Given the description of an element on the screen output the (x, y) to click on. 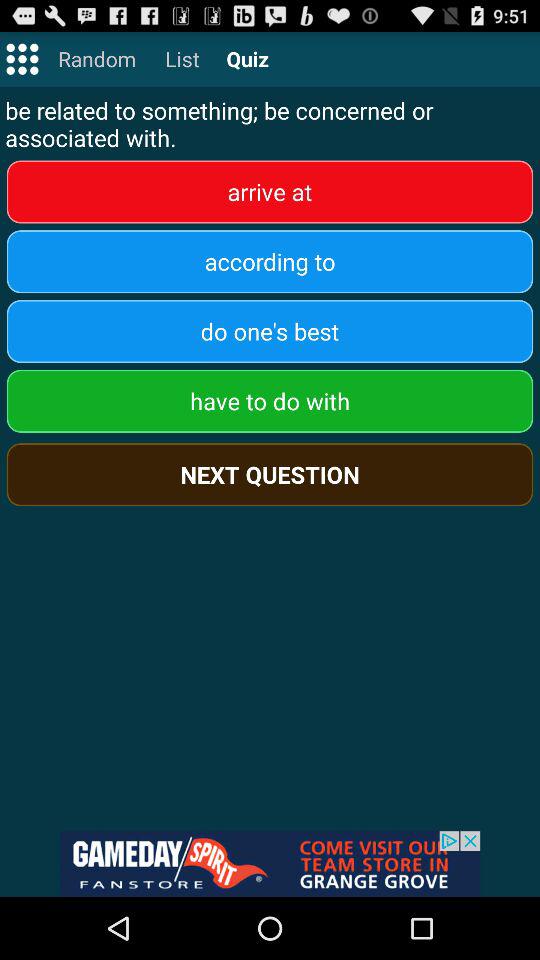
main menu (22, 58)
